Given the description of an element on the screen output the (x, y) to click on. 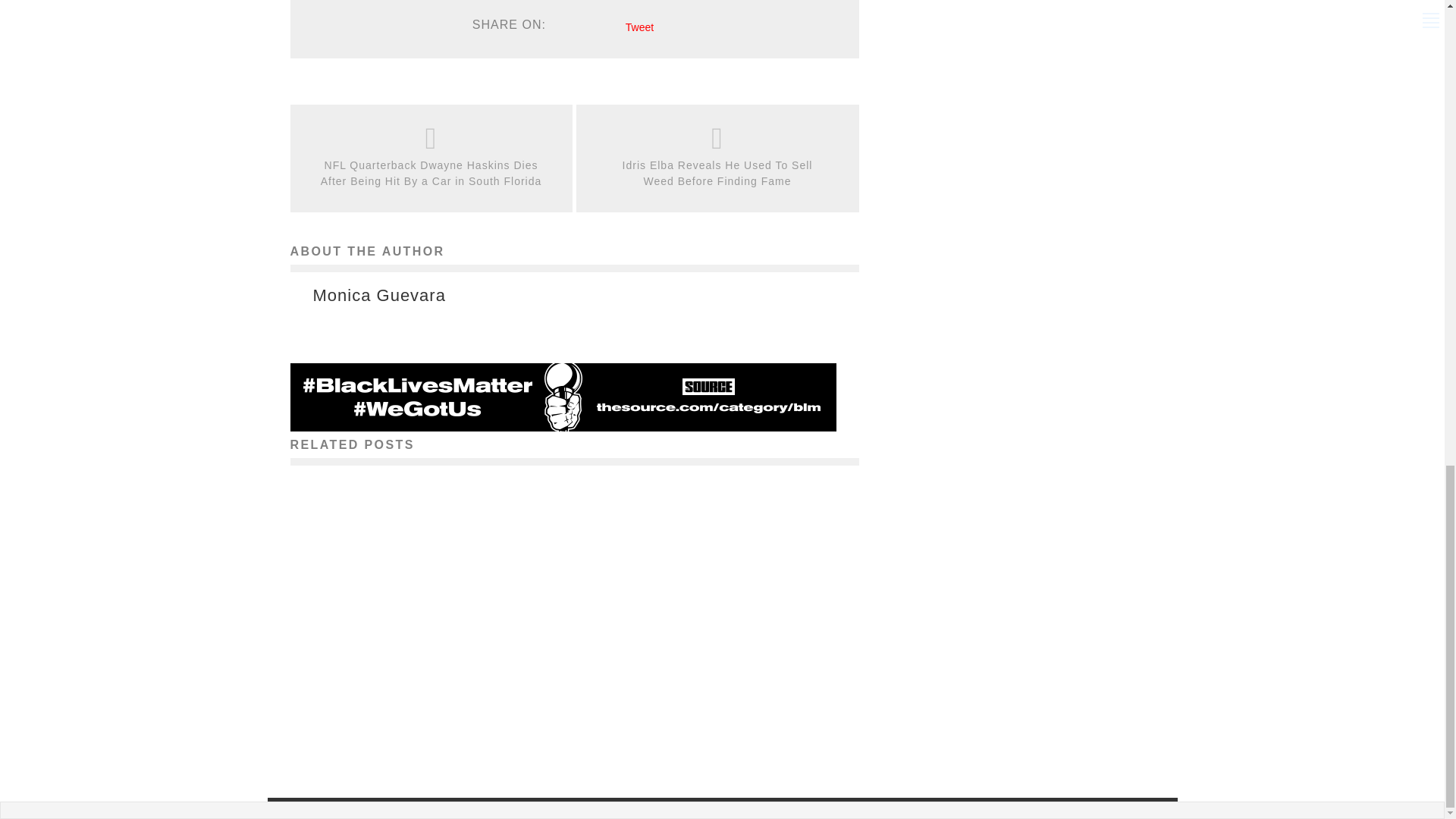
Idris Elba Reveals He Used To Sell Weed Before Finding Fame (717, 173)
Tweet (639, 27)
The Source (378, 732)
Monica Guevara (379, 295)
